Given the description of an element on the screen output the (x, y) to click on. 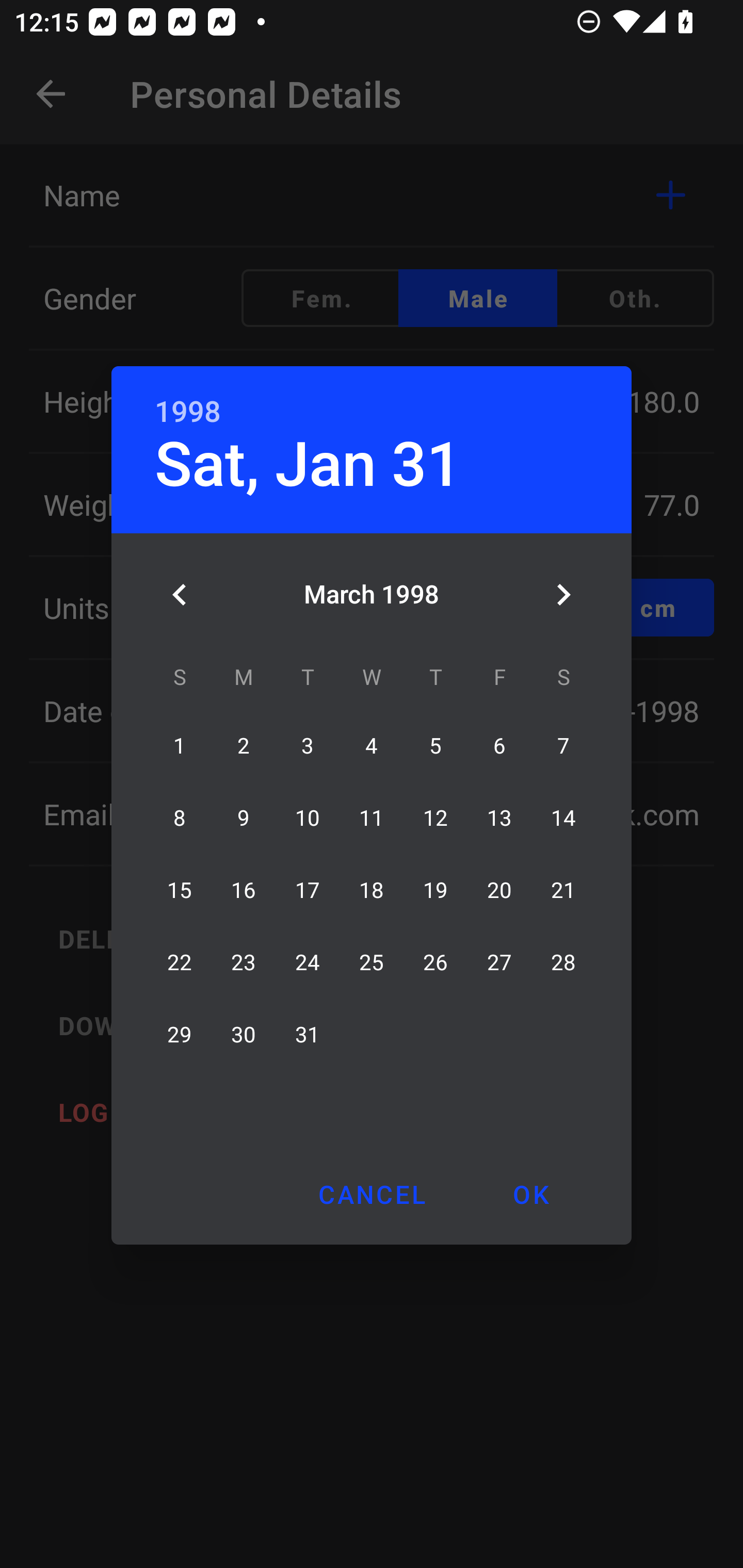
1998 (187, 412)
Sat, Jan 31 (308, 464)
Previous month (178, 594)
Next month (563, 594)
1 01 March 1998 (179, 746)
2 02 March 1998 (243, 746)
3 03 March 1998 (307, 746)
4 04 March 1998 (371, 746)
5 05 March 1998 (435, 746)
6 06 March 1998 (499, 746)
7 07 March 1998 (563, 746)
8 08 March 1998 (179, 818)
9 09 March 1998 (243, 818)
10 10 March 1998 (307, 818)
11 11 March 1998 (371, 818)
12 12 March 1998 (435, 818)
13 13 March 1998 (499, 818)
14 14 March 1998 (563, 818)
15 15 March 1998 (179, 890)
16 16 March 1998 (243, 890)
17 17 March 1998 (307, 890)
18 18 March 1998 (371, 890)
19 19 March 1998 (435, 890)
20 20 March 1998 (499, 890)
21 21 March 1998 (563, 890)
22 22 March 1998 (179, 962)
23 23 March 1998 (243, 962)
24 24 March 1998 (307, 962)
25 25 March 1998 (371, 962)
26 26 March 1998 (435, 962)
27 27 March 1998 (499, 962)
28 28 March 1998 (563, 962)
29 29 March 1998 (179, 1034)
30 30 March 1998 (243, 1034)
31 31 March 1998 (307, 1034)
CANCEL (371, 1193)
OK (530, 1193)
